Given the description of an element on the screen output the (x, y) to click on. 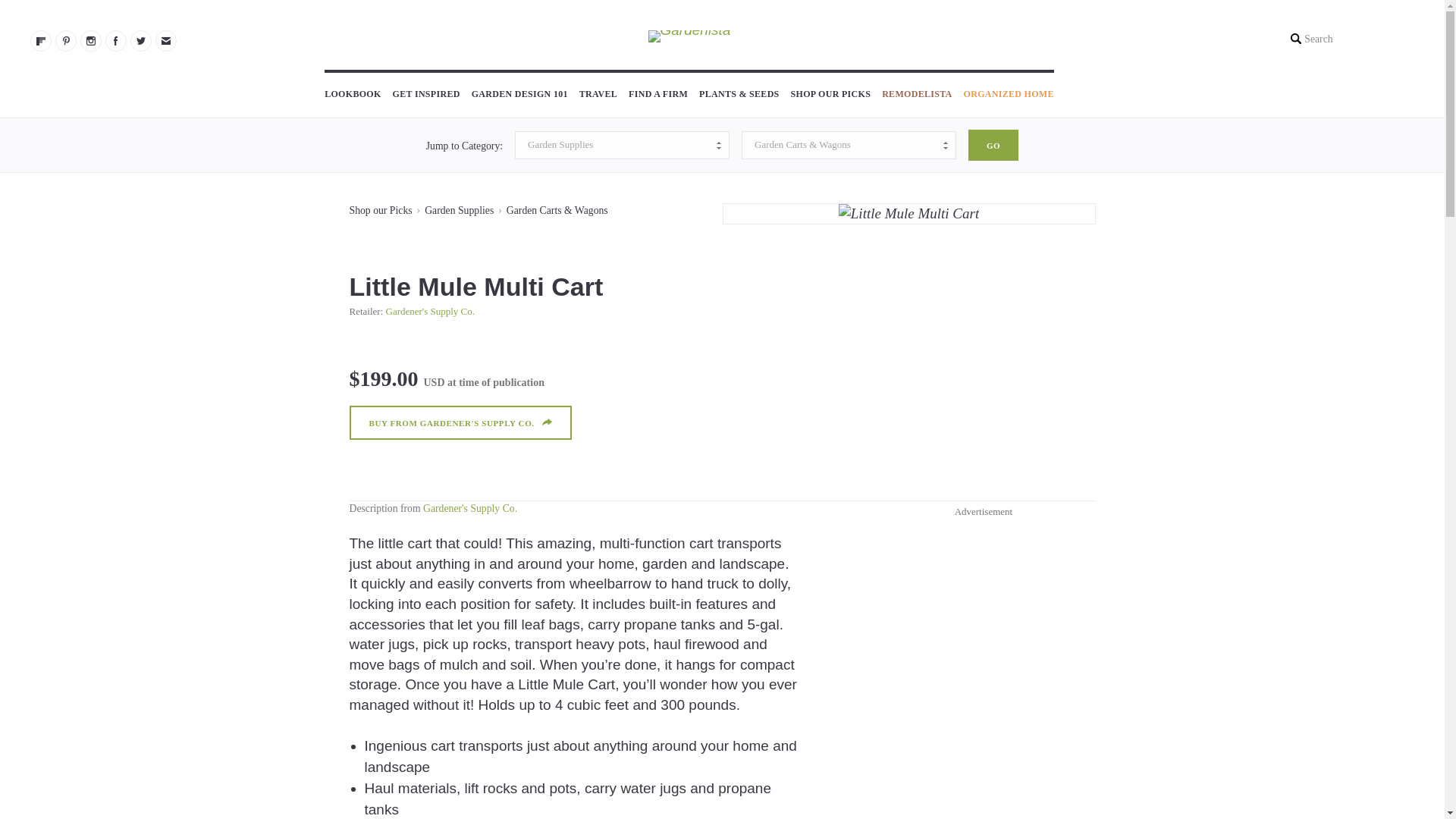
US Dollar (433, 382)
GARDEN DESIGN 101 (519, 94)
LOOKBOOK (352, 94)
GET INSPIRED (426, 94)
GO (992, 144)
